Given the description of an element on the screen output the (x, y) to click on. 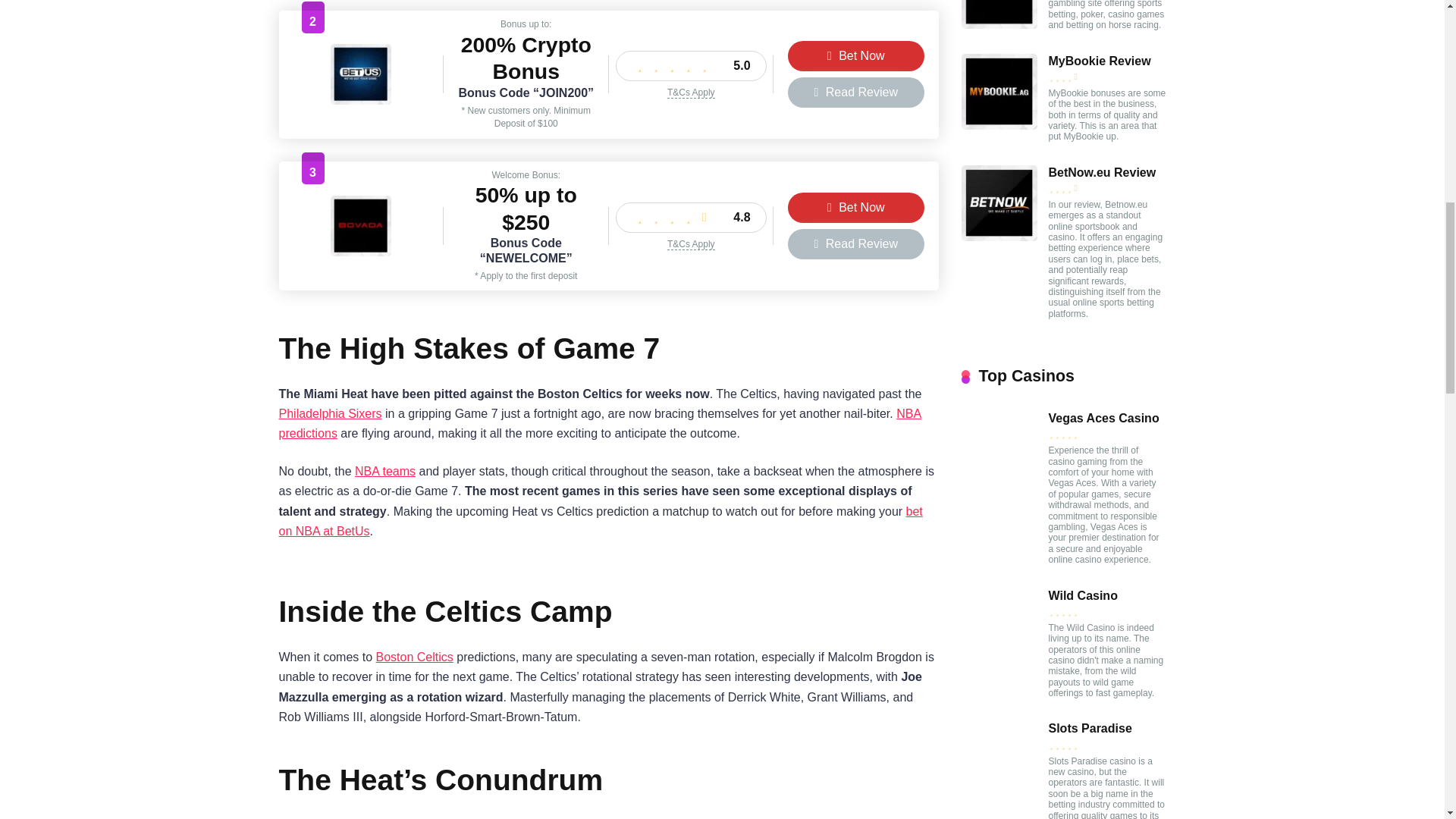
Read Review (855, 91)
Bovada Review (360, 251)
Read Review (855, 244)
Bet Now (855, 55)
BetUS Review (360, 100)
Bet Now (855, 207)
